Given the description of an element on the screen output the (x, y) to click on. 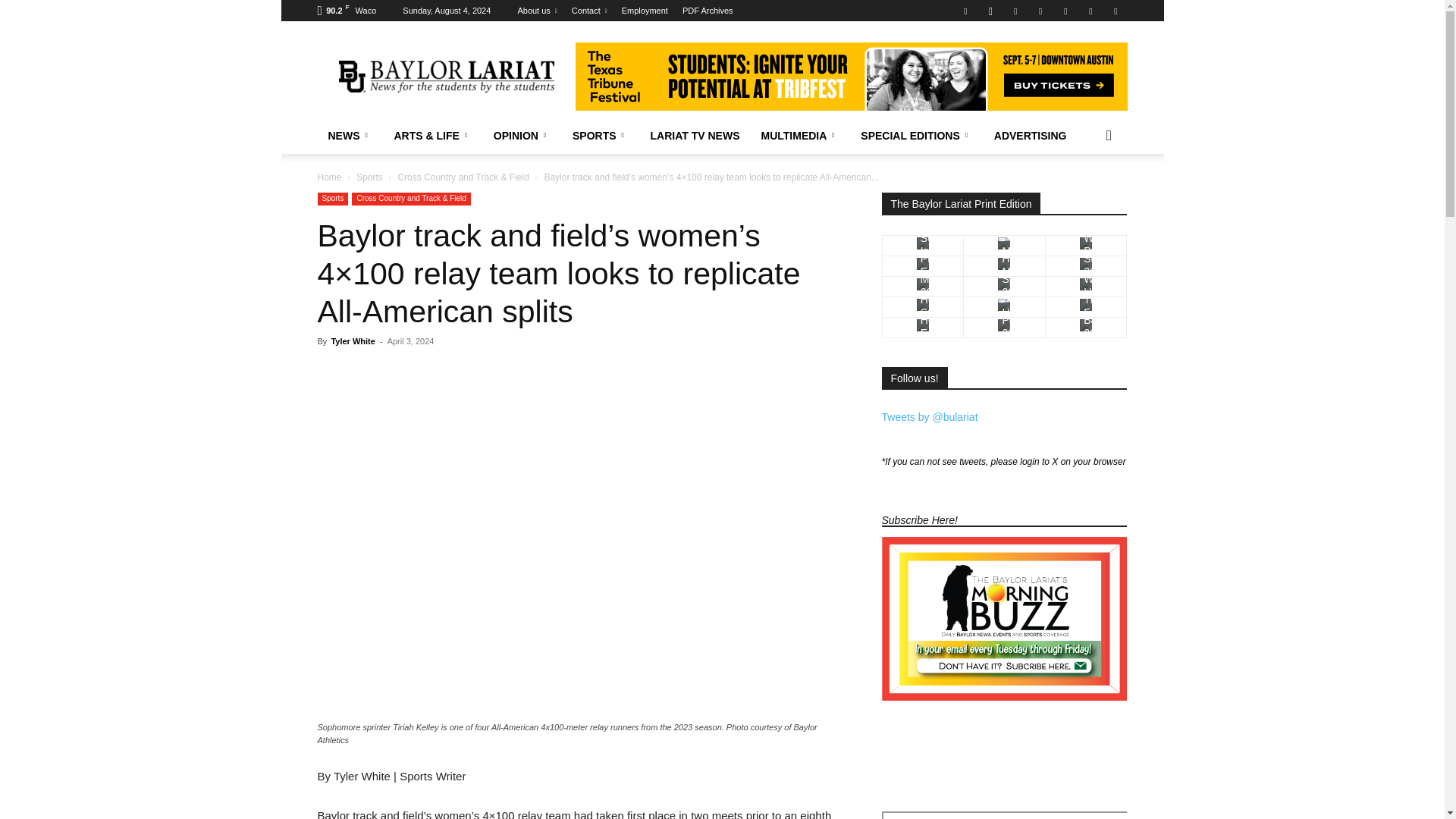
Student Employment (644, 10)
Contact the Lariat (589, 10)
Linkedin (1015, 10)
Facebook (964, 10)
Instagram (989, 10)
